Given the description of an element on the screen output the (x, y) to click on. 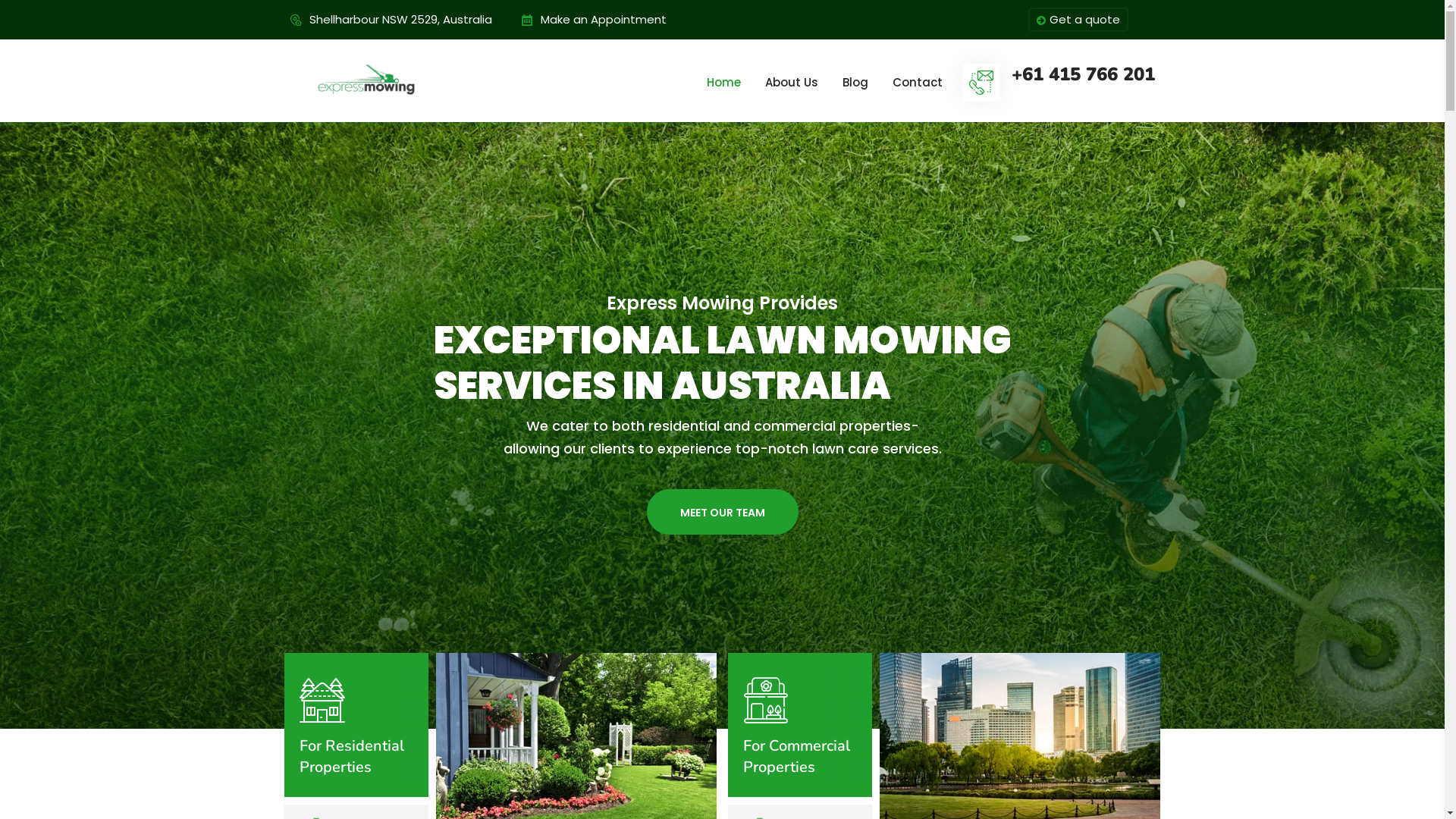
About Us Element type: text (790, 82)
For Commercial Properties Element type: text (799, 756)
Home Element type: text (723, 82)
+61 415 766 201 Element type: text (1082, 74)
MEET OUR TEAM Element type: text (721, 511)
For Residential Properties Element type: text (356, 756)
Blog Element type: text (854, 82)
Get a quote Element type: text (1078, 19)
Make an Appointment Element type: text (602, 19)
Contact Element type: text (916, 82)
